Given the description of an element on the screen output the (x, y) to click on. 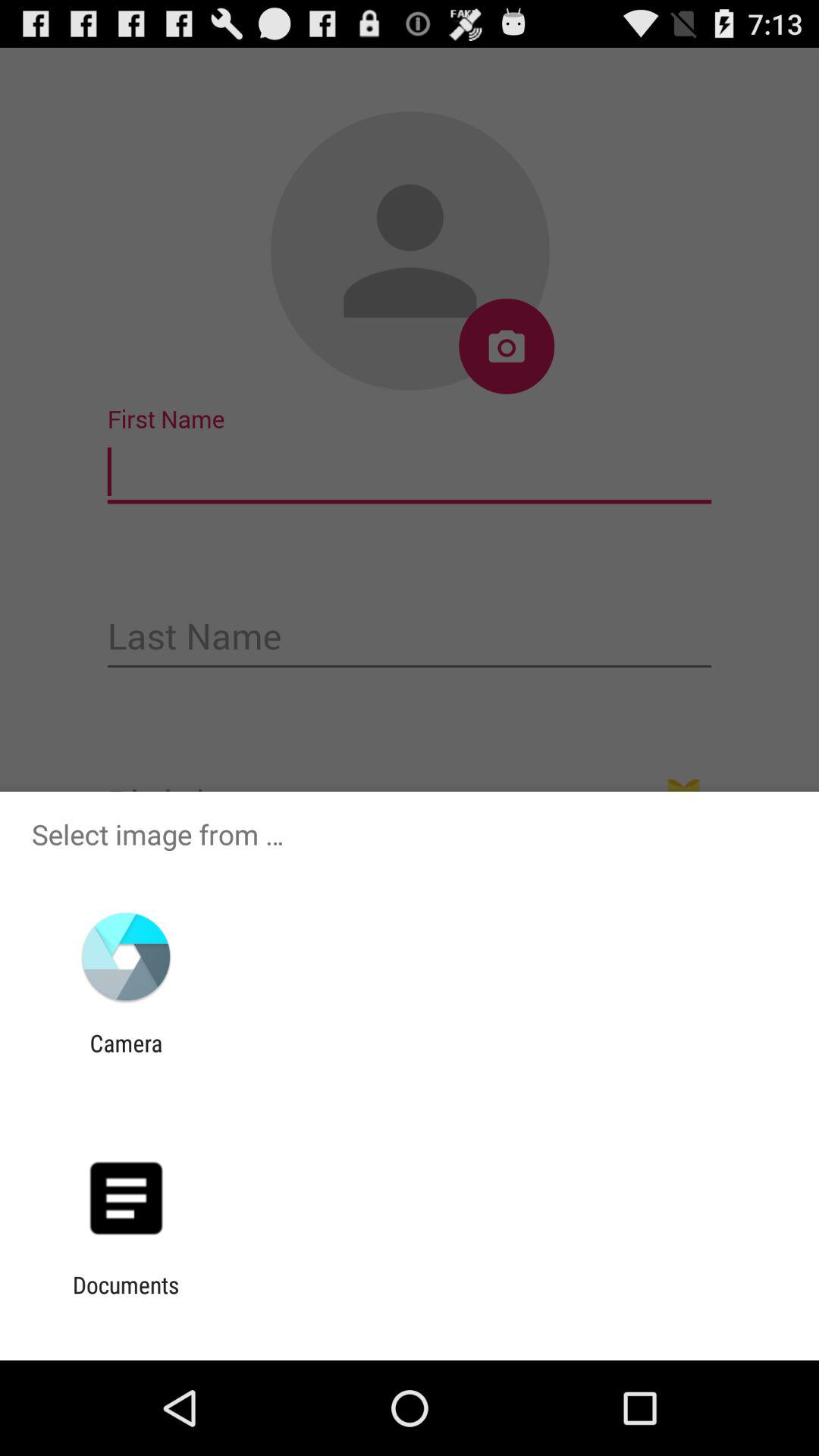
jump to camera icon (125, 1056)
